Given the description of an element on the screen output the (x, y) to click on. 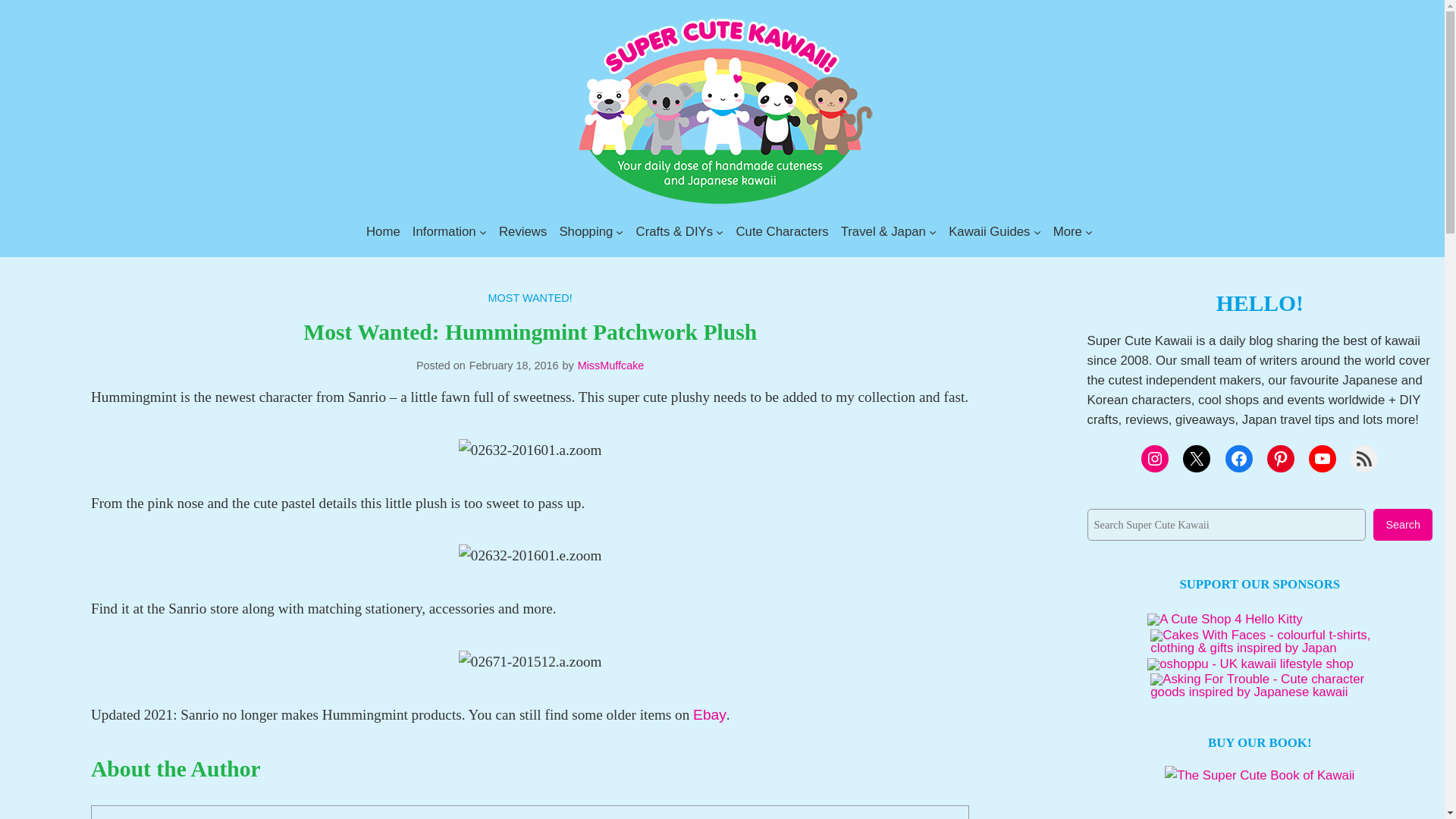
Home (383, 231)
Reviews (523, 231)
Information (444, 231)
Shopping (585, 231)
